Given the description of an element on the screen output the (x, y) to click on. 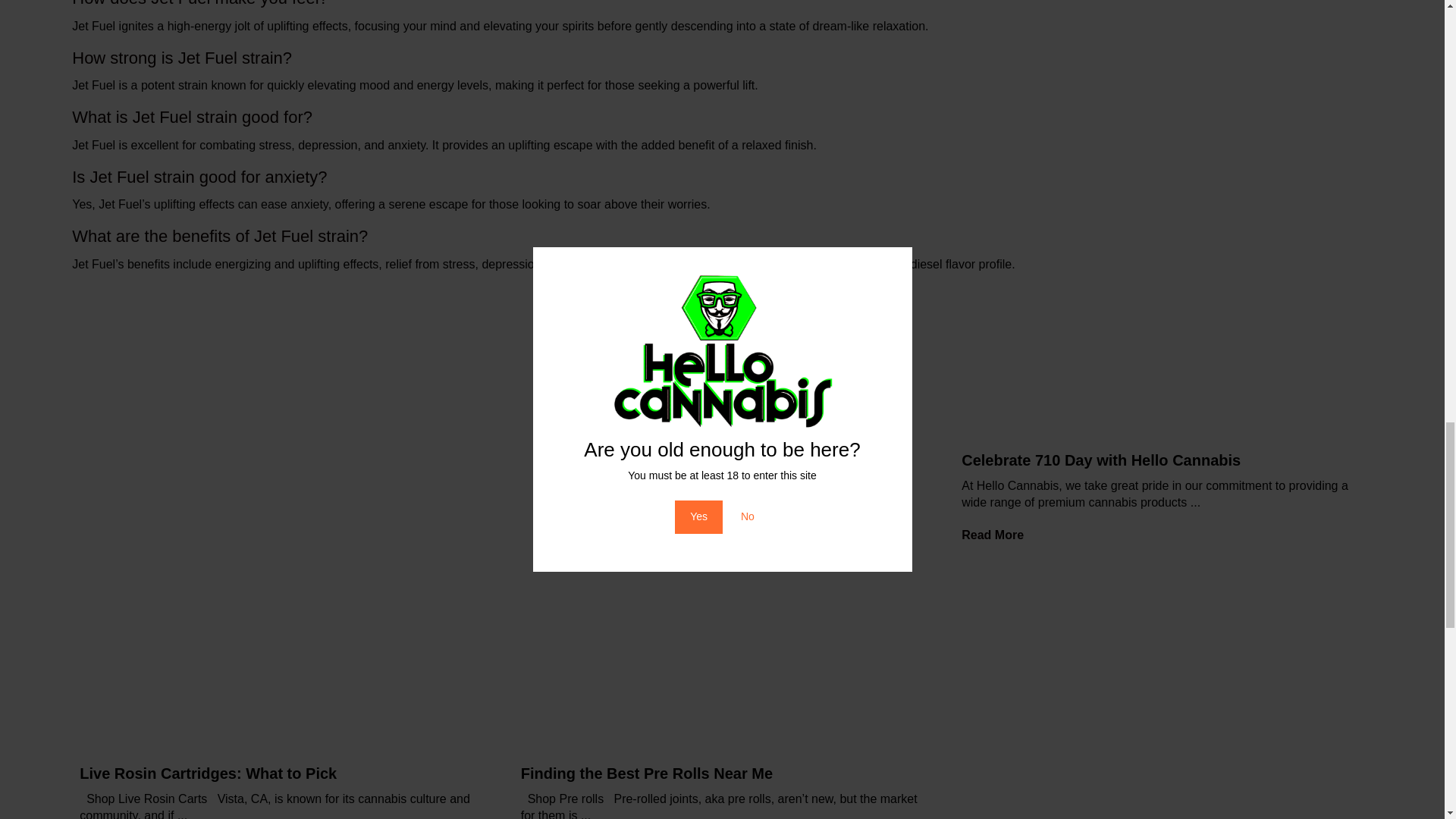
Read More (997, 534)
